Given the description of an element on the screen output the (x, y) to click on. 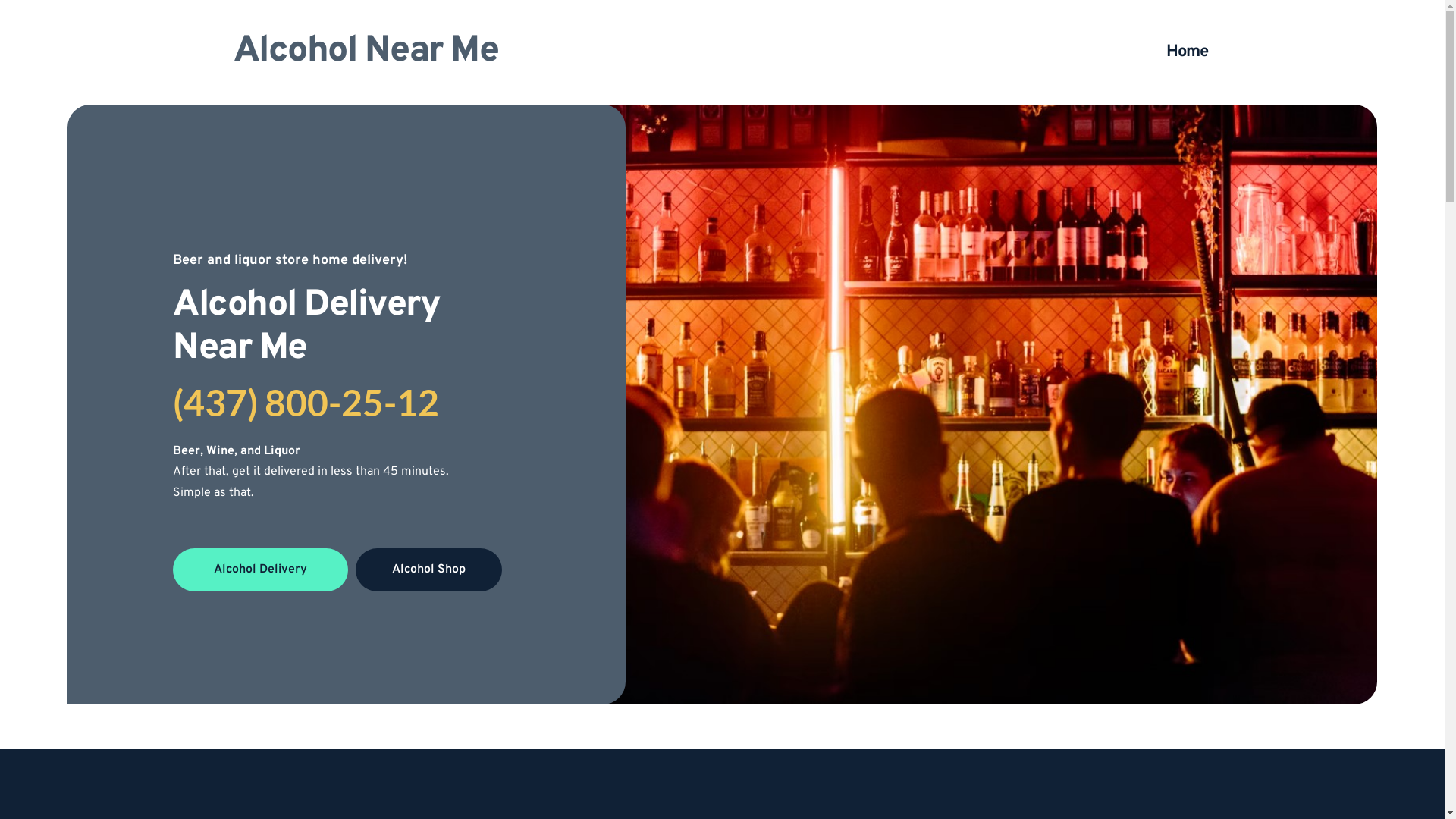
Alcohol Delivery Element type: text (260, 569)
Home Element type: text (1186, 51)
(437) 800-25-12 Element type: text (305, 401)
Alcohol Shop Element type: text (428, 569)
